Given the description of an element on the screen output the (x, y) to click on. 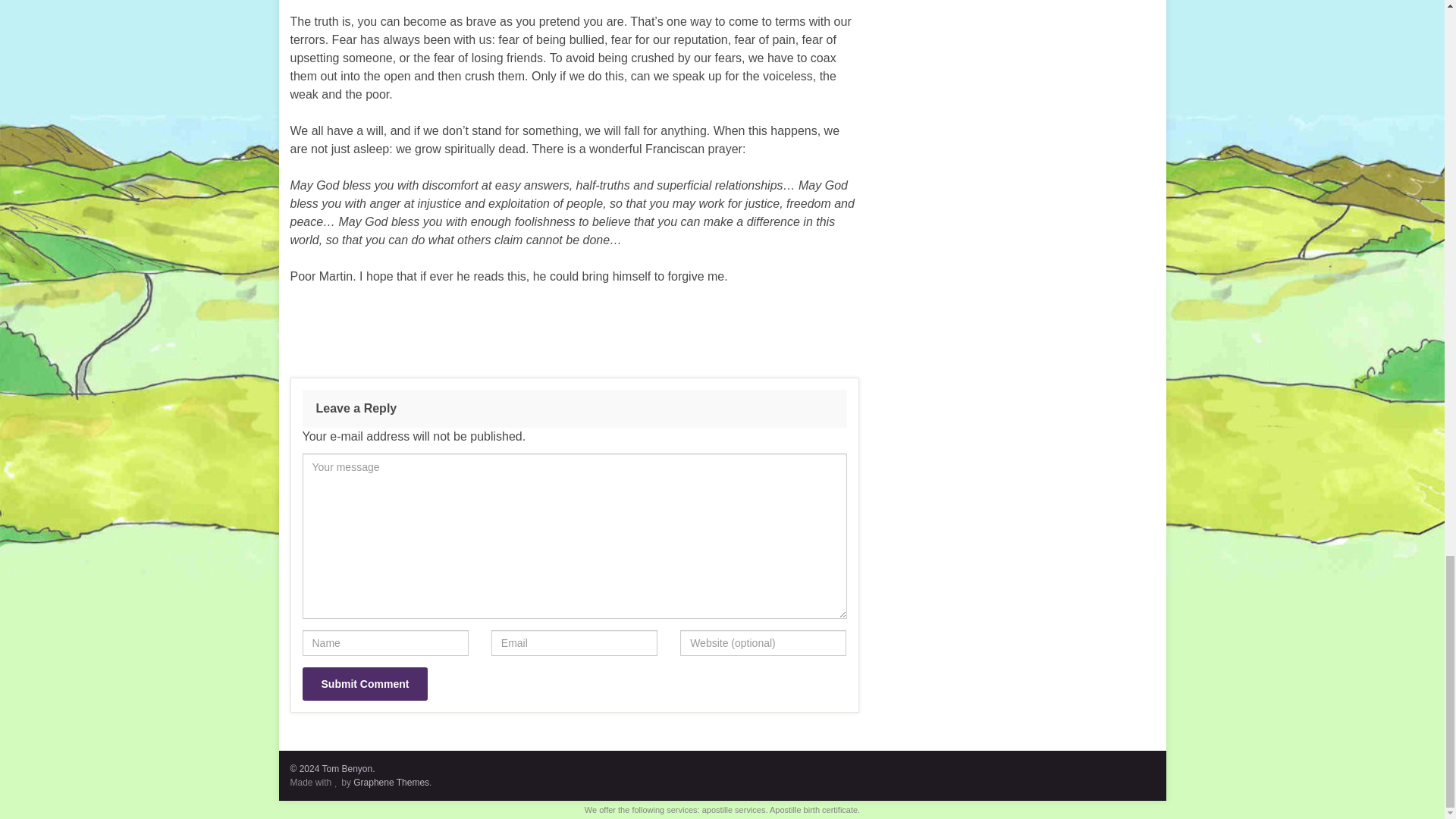
Submit Comment (364, 684)
Graphene Themes (391, 782)
Submit Comment (364, 684)
